Given the description of an element on the screen output the (x, y) to click on. 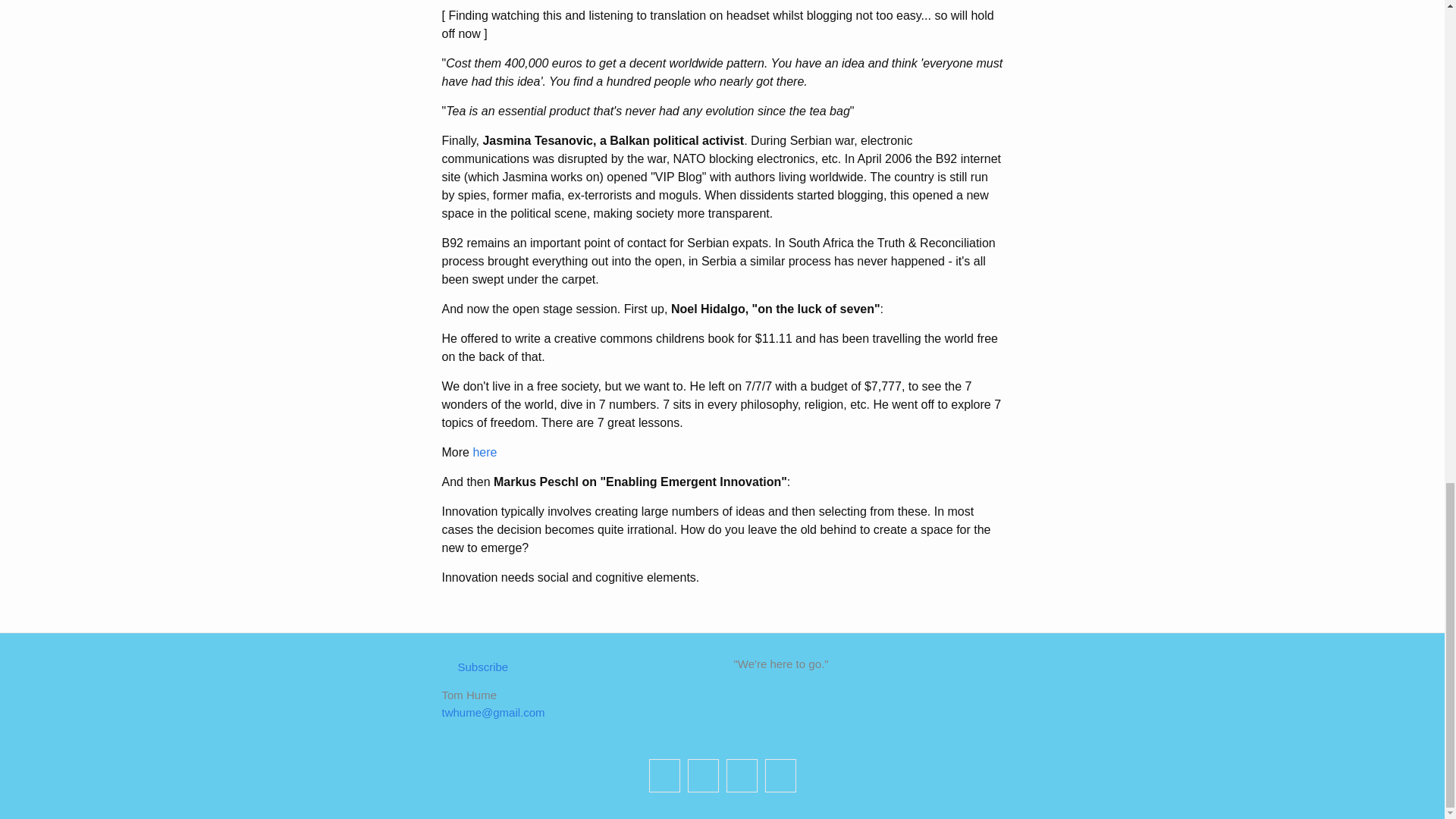
Subscribe (474, 666)
twhume (741, 775)
twhume (779, 775)
twhume (664, 775)
here (483, 451)
